Given the description of an element on the screen output the (x, y) to click on. 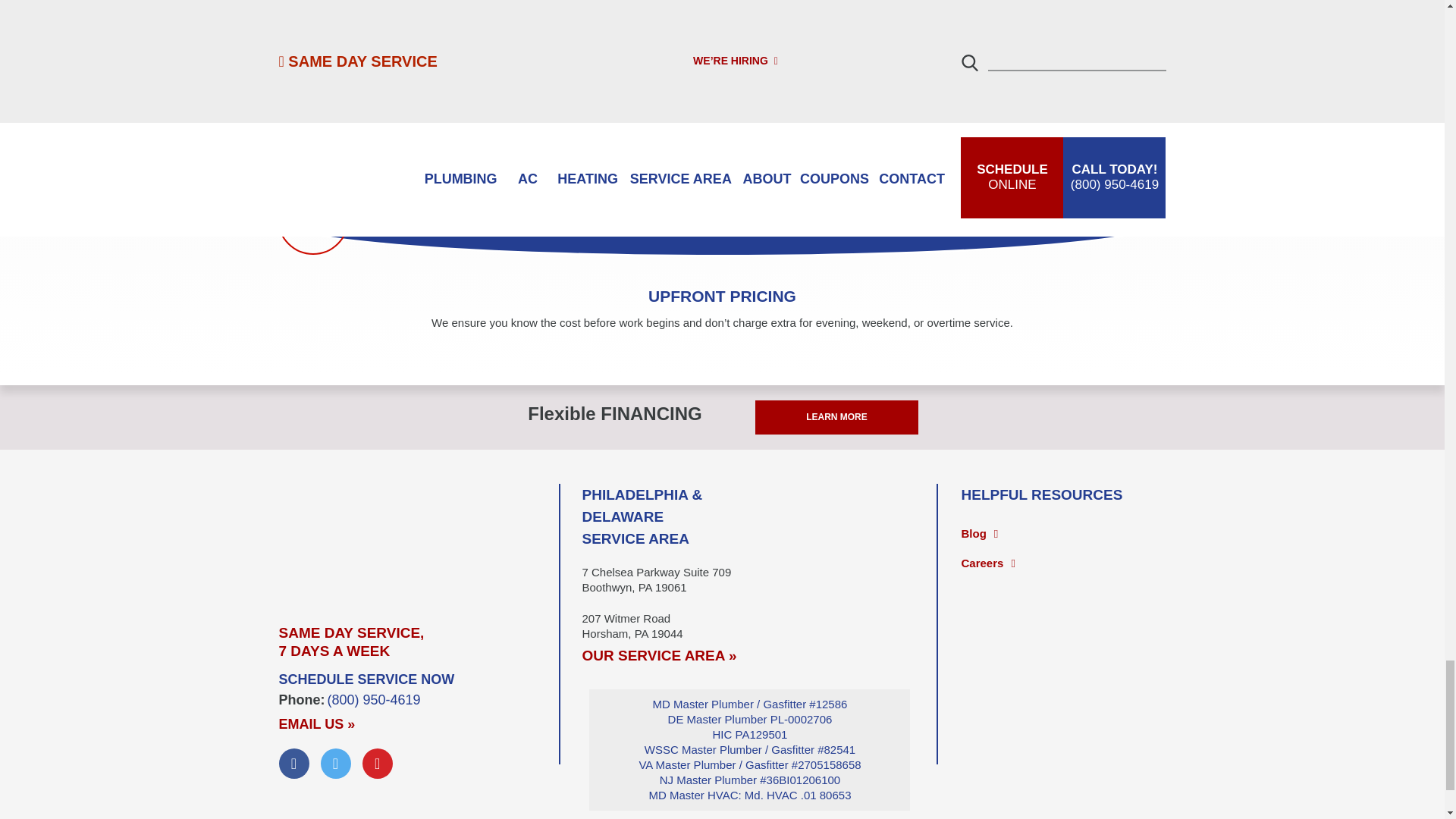
Twitter (335, 763)
Len The Plumber (419, 540)
Facebook (293, 763)
Email us (317, 724)
Phone Number (373, 699)
